Given the description of an element on the screen output the (x, y) to click on. 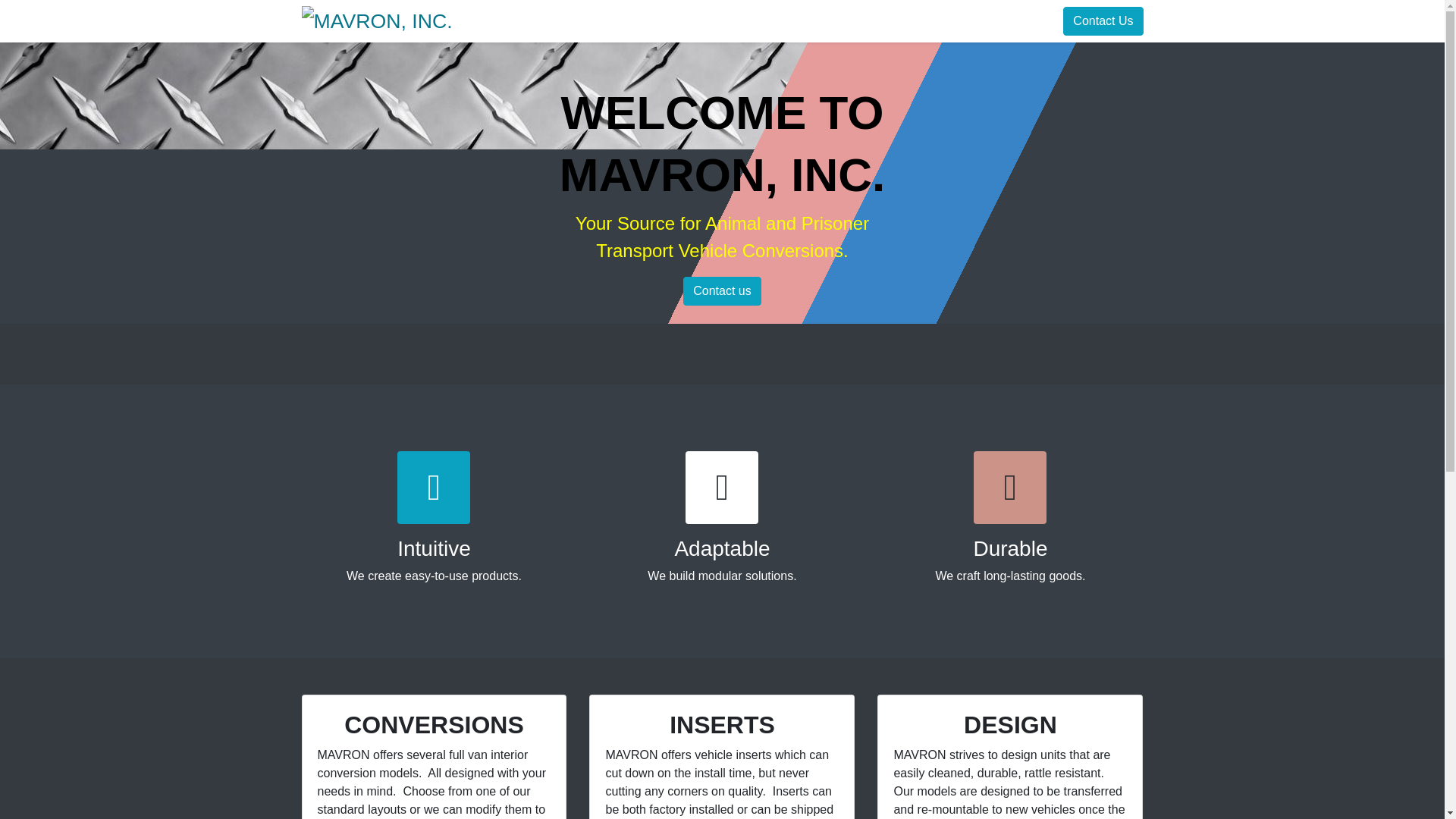
MAVRON, INC. (376, 20)
Contact Us (1102, 21)
Contact us (721, 290)
